Given the description of an element on the screen output the (x, y) to click on. 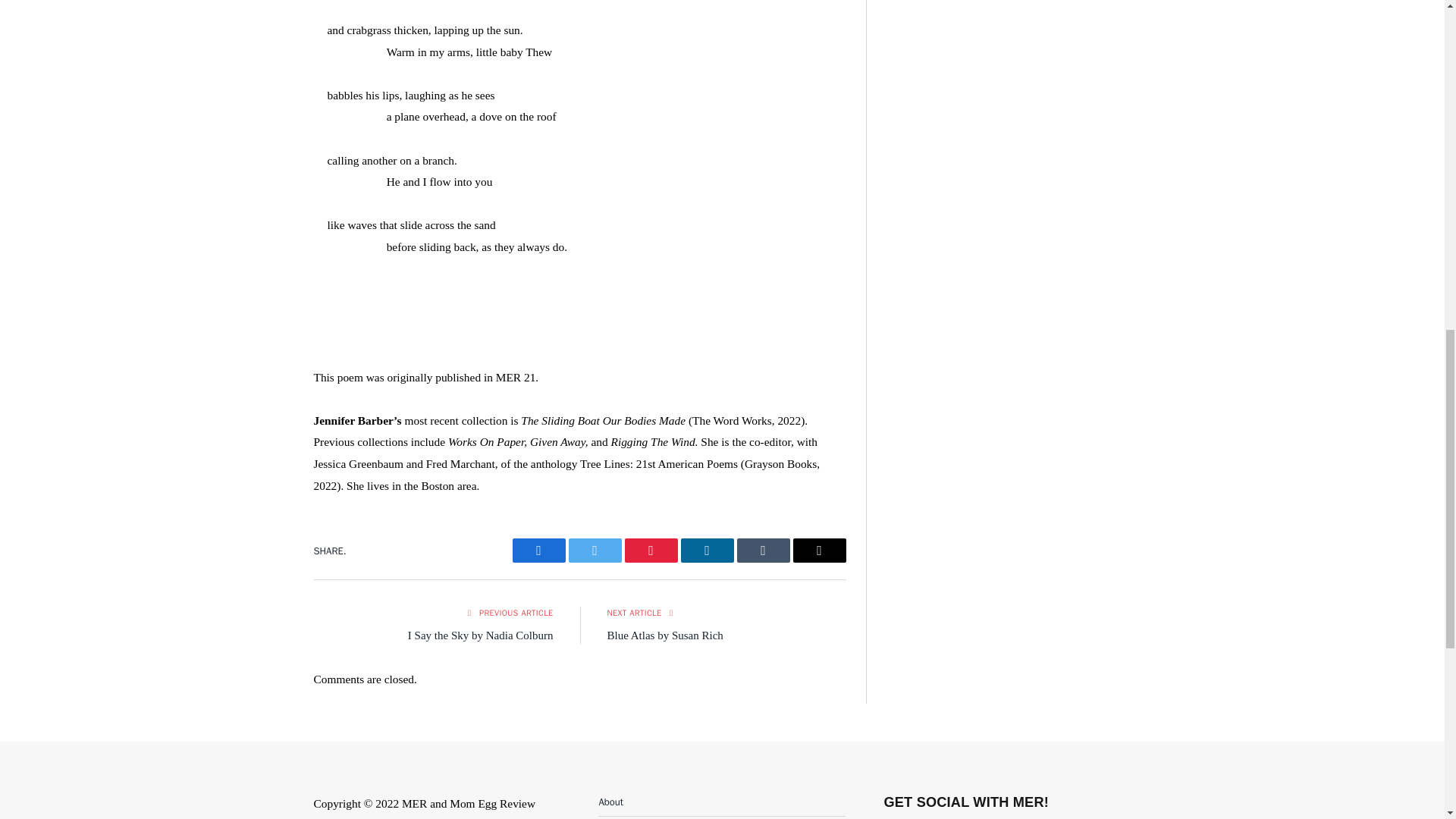
Share on Pinterest (651, 550)
Share on Facebook (539, 550)
Share on LinkedIn (707, 550)
Share on Tumblr (763, 550)
Share via Email (819, 550)
